Given the description of an element on the screen output the (x, y) to click on. 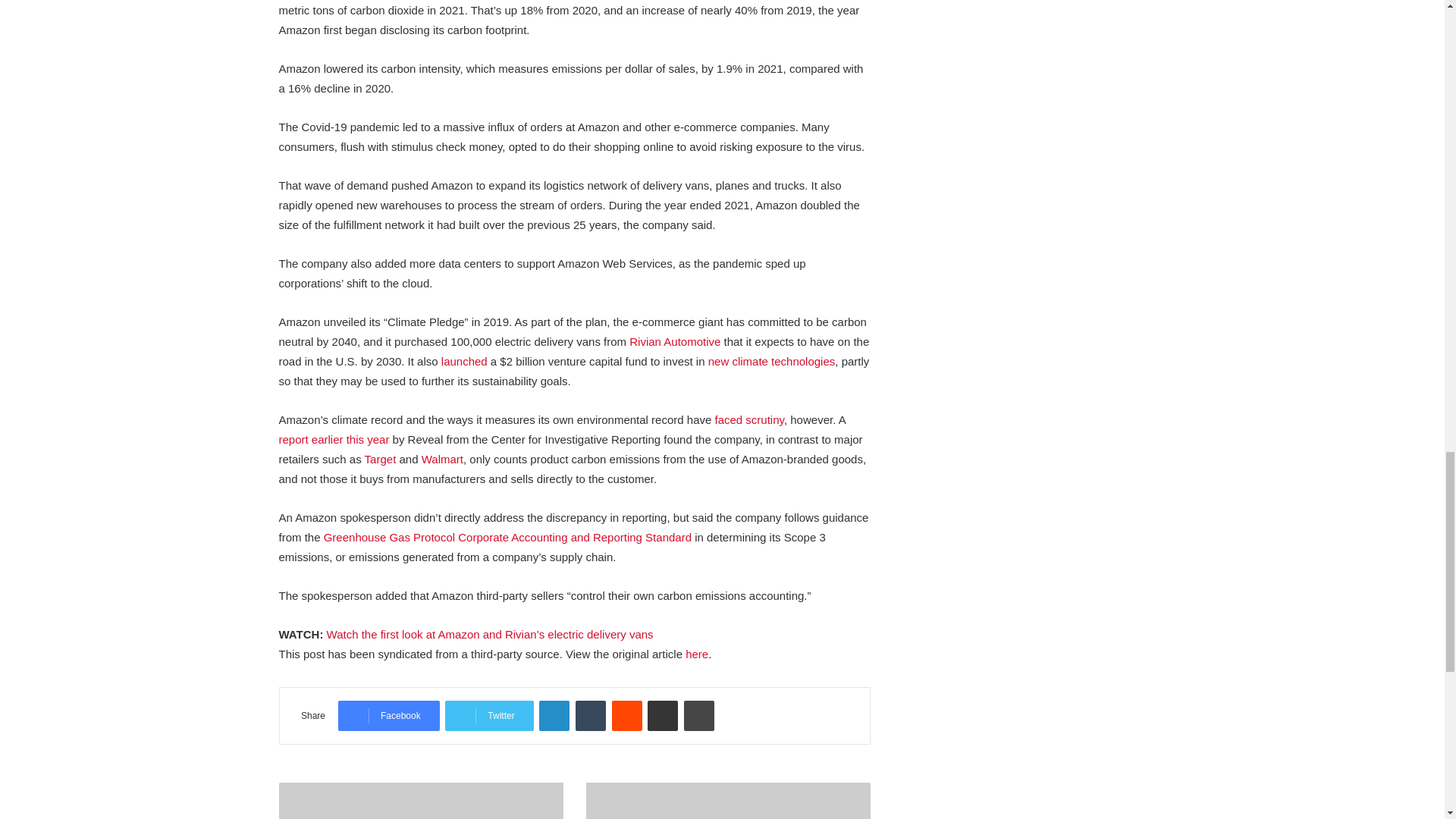
Rivian Automotive (674, 341)
here (696, 653)
launched (464, 360)
new climate technologies (771, 360)
Target (380, 459)
Walmart (442, 459)
report earlier this year (334, 439)
faced scrutiny (748, 419)
